Given the description of an element on the screen output the (x, y) to click on. 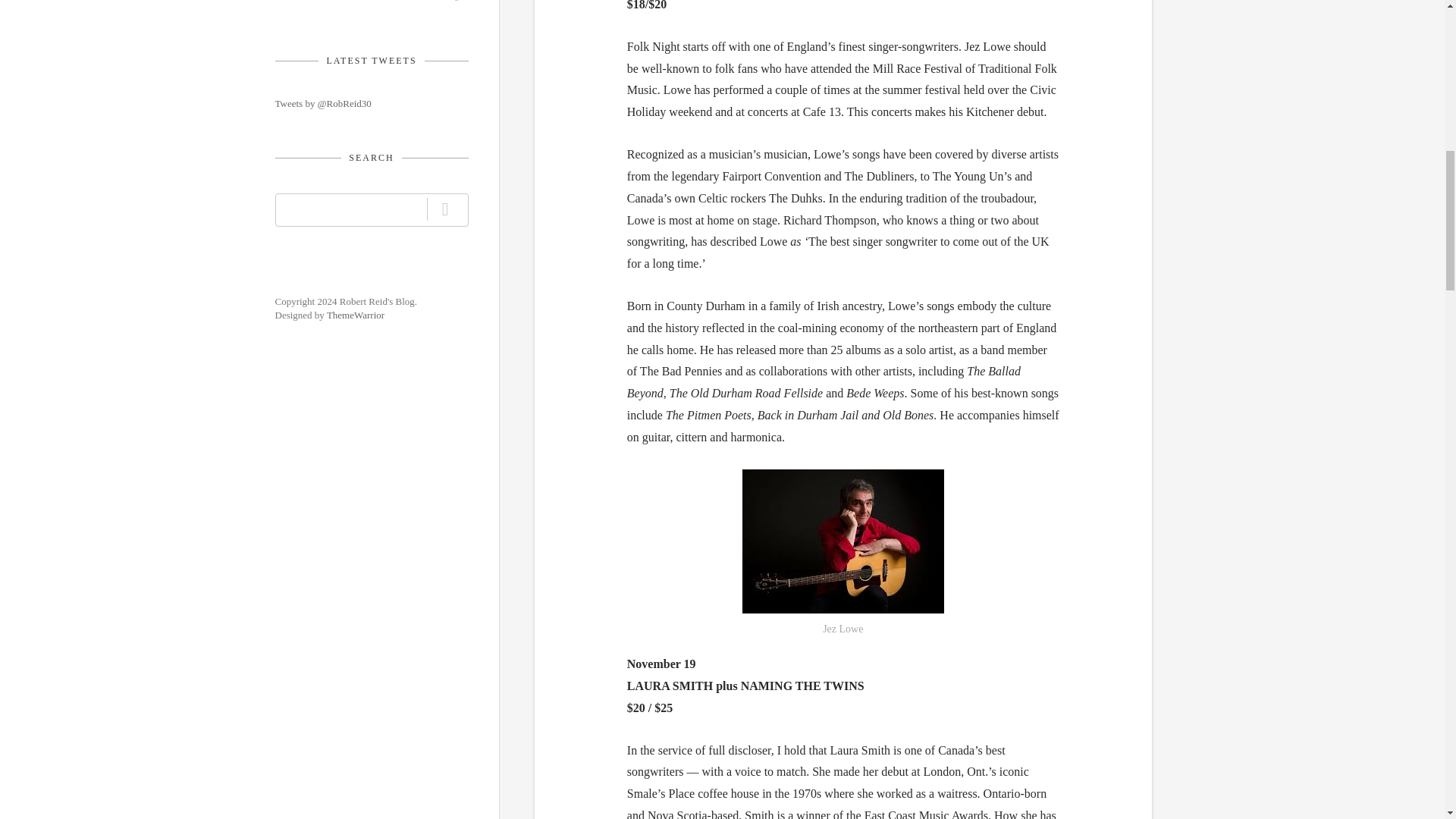
ThemeWarrior (355, 315)
